Given the description of an element on the screen output the (x, y) to click on. 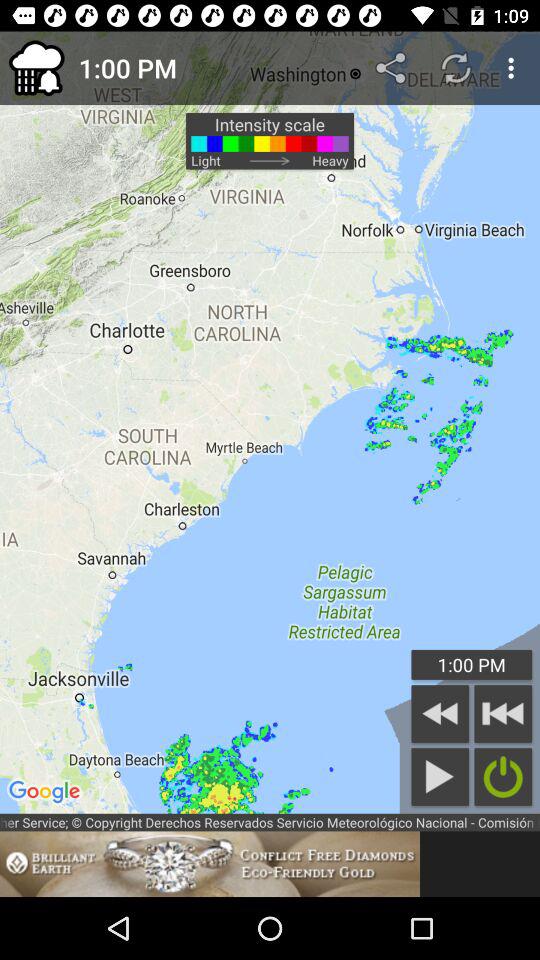
play fast backward (503, 713)
